Given the description of an element on the screen output the (x, y) to click on. 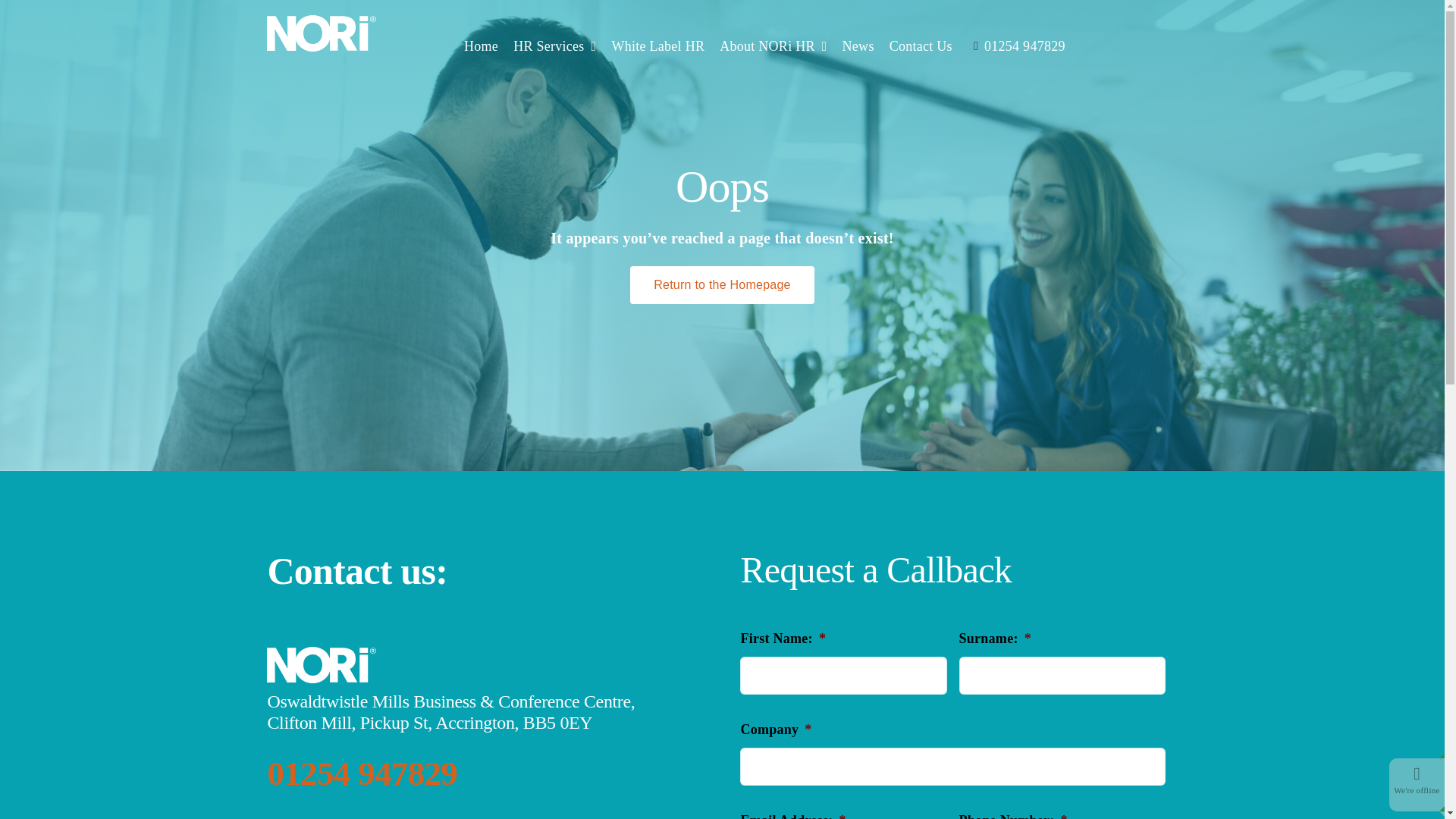
Home (481, 45)
HR Services (554, 45)
About NORi HR (772, 45)
Contact Us (920, 45)
White Label HR (657, 45)
01254 947829 (1016, 45)
NORi logo MONO-02 (320, 665)
